Given the description of an element on the screen output the (x, y) to click on. 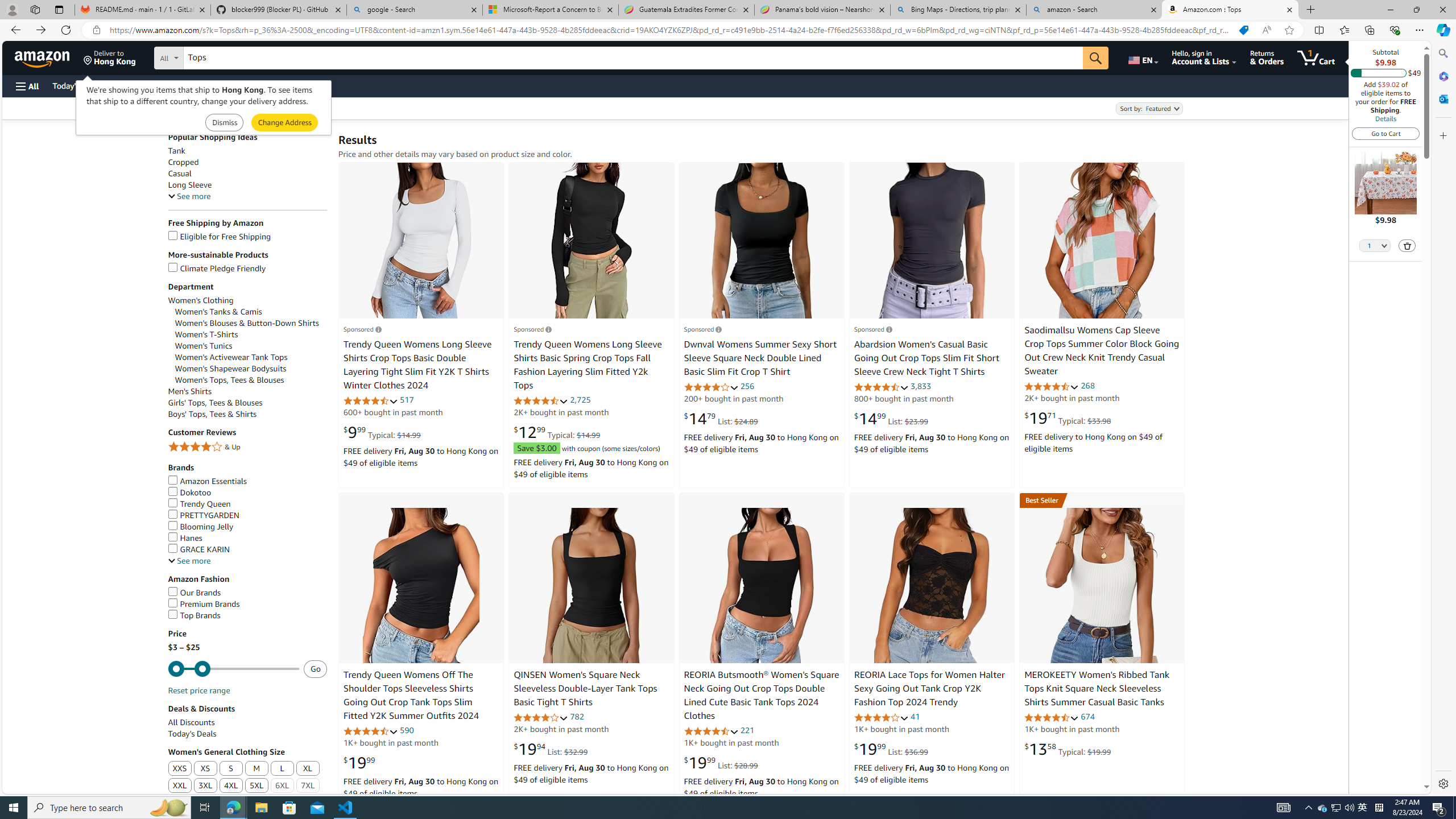
Trendy Queen (247, 504)
4.5 out of 5 stars (1051, 717)
View Sponsored information or leave ad feedback (872, 329)
XXL (179, 785)
Go back to filtering menu (48, 788)
XXL (179, 785)
GRACE KARIN (247, 549)
Quantity Selector (1374, 245)
